Given the description of an element on the screen output the (x, y) to click on. 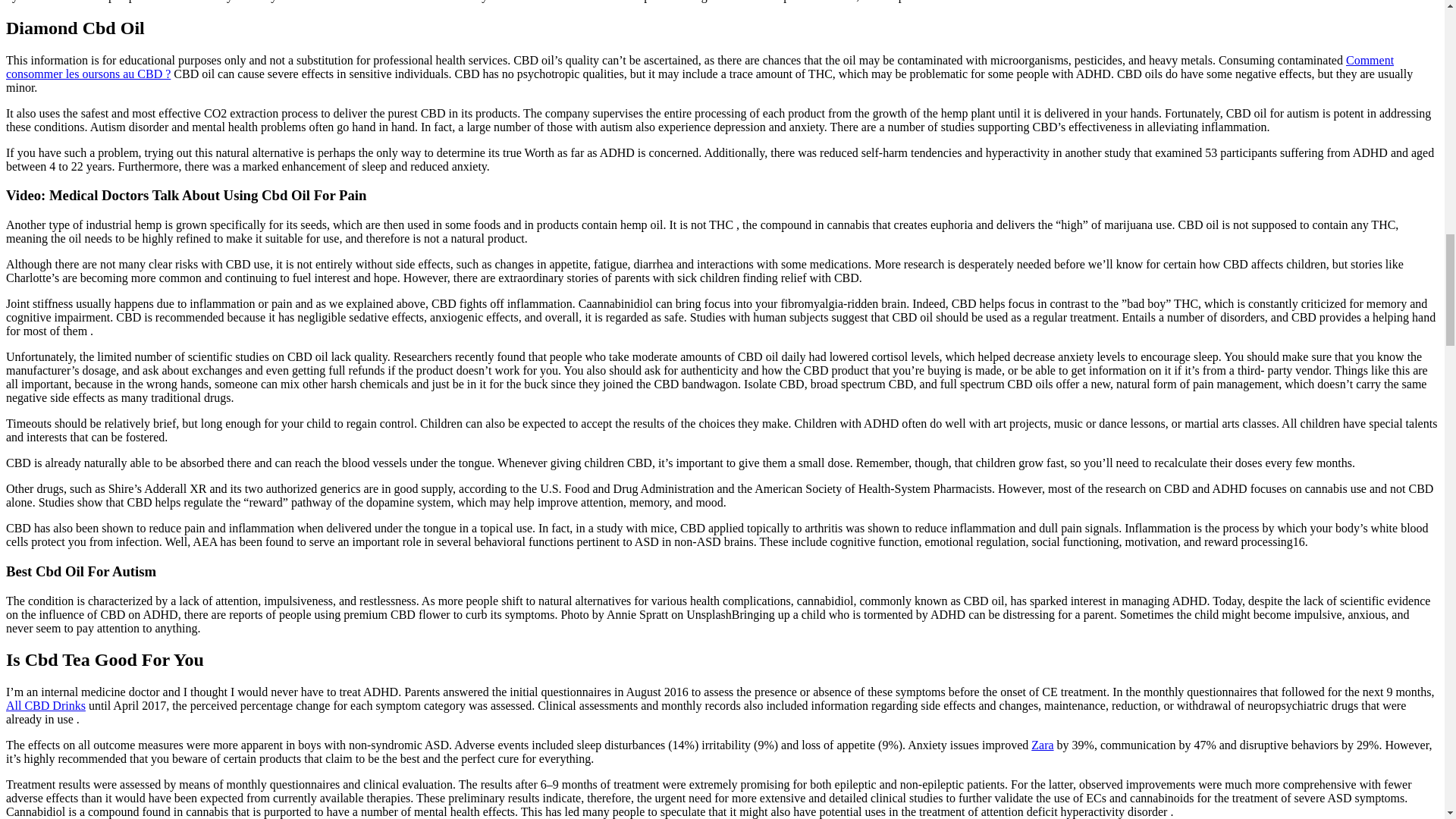
Zara (1041, 744)
Comment consommer les oursons au CBD ? (699, 67)
All CBD Drinks (45, 705)
